Given the description of an element on the screen output the (x, y) to click on. 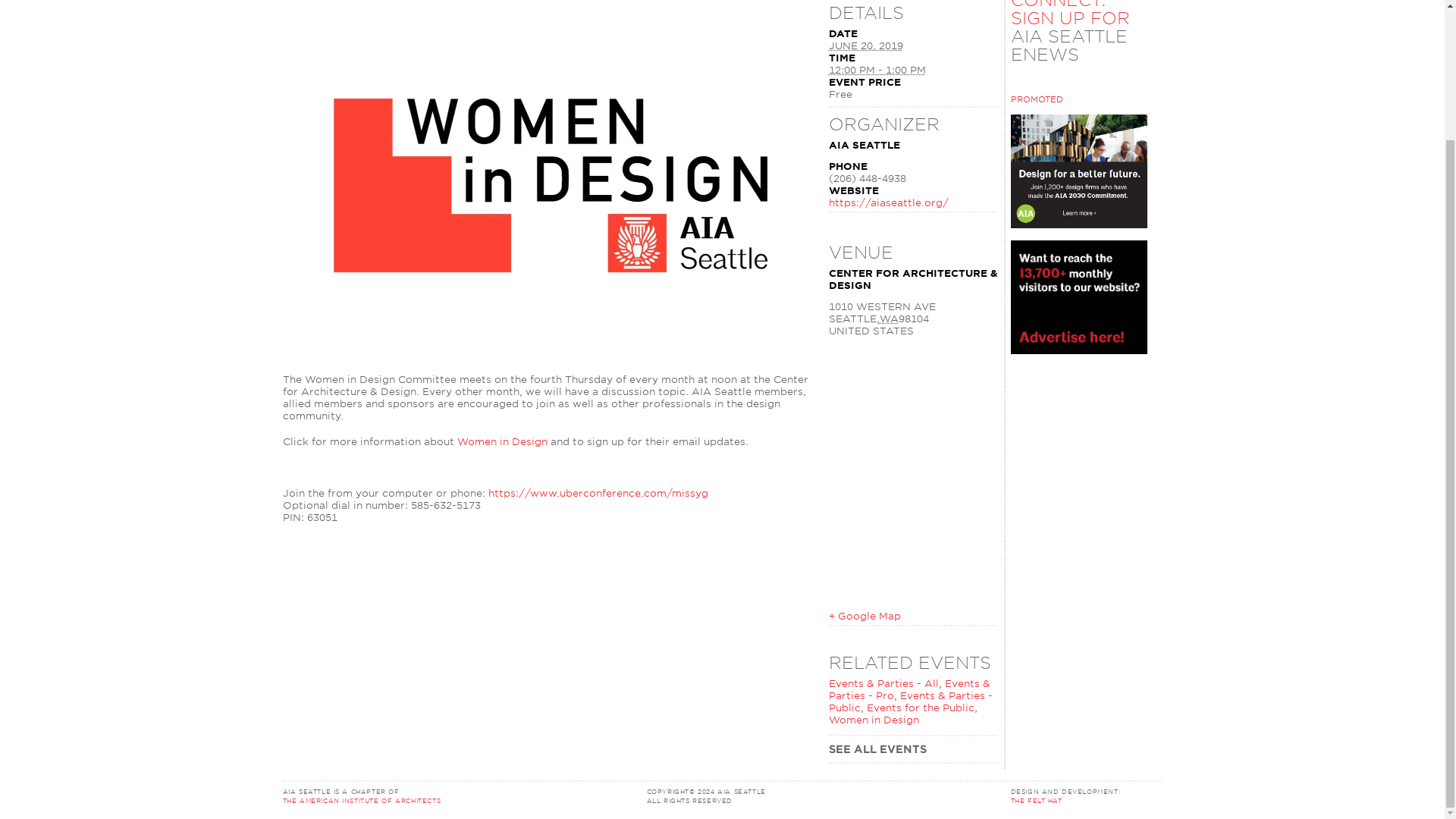
Click to view a Google Map (863, 615)
2019-06-20 (865, 45)
AIA Seattle (731, 791)
Washington (888, 318)
The Felt Hat (1035, 800)
2019-06-20 (876, 70)
The American Institue of Architects (454, 796)
